Given the description of an element on the screen output the (x, y) to click on. 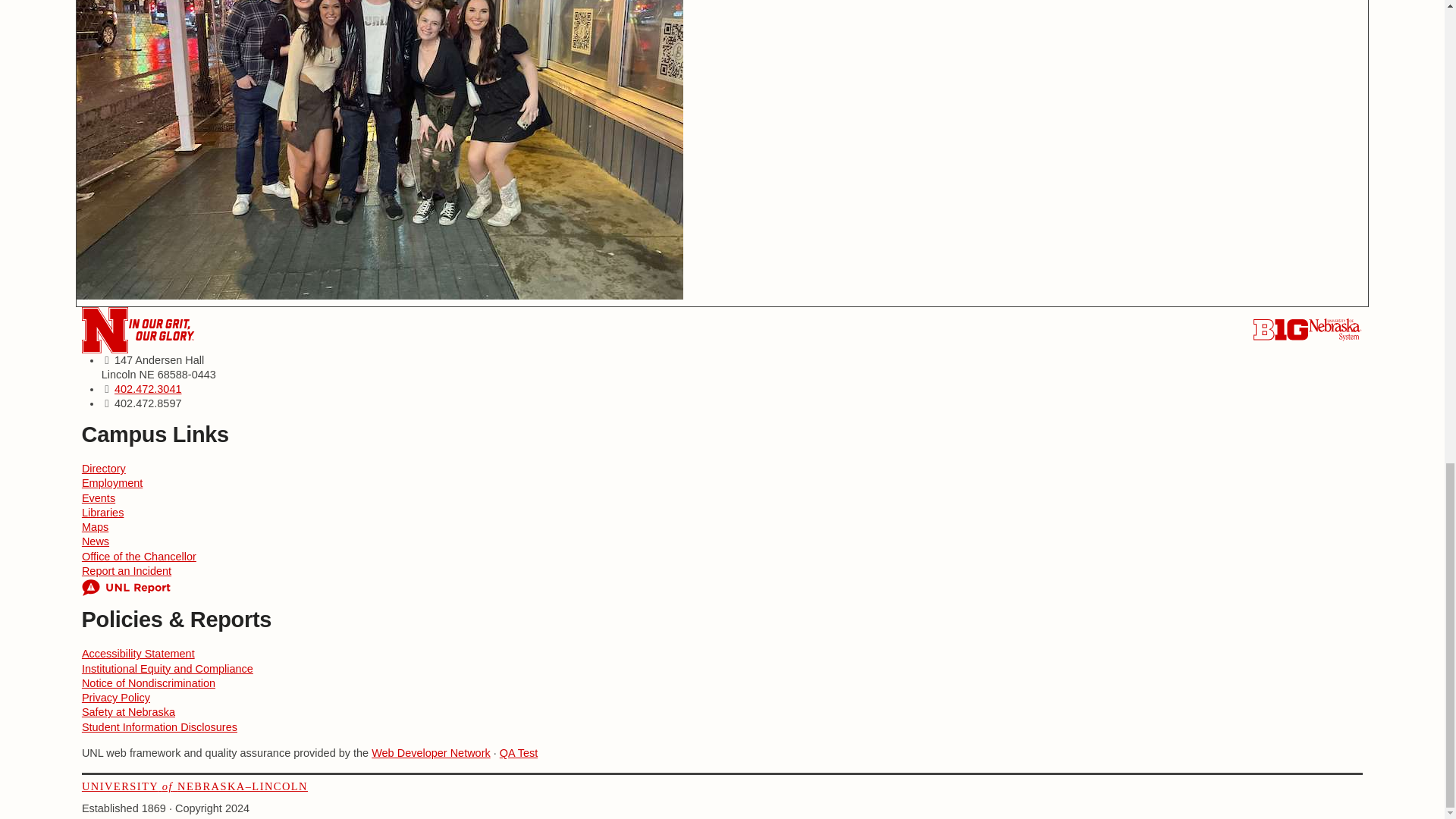
phone (148, 388)
